Given the description of an element on the screen output the (x, y) to click on. 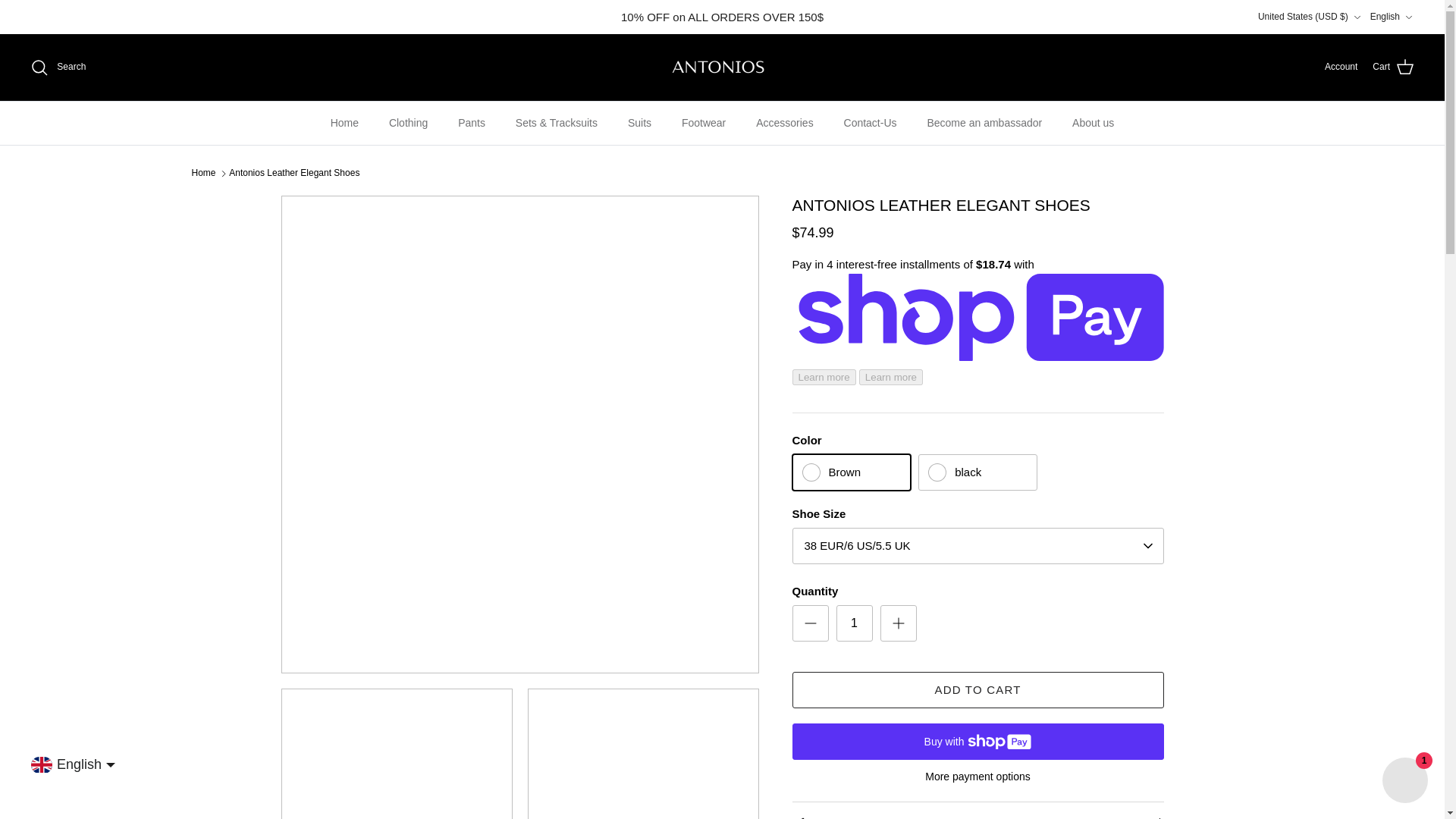
Minus (809, 623)
Plus (897, 623)
Antonios (721, 67)
Down (1408, 17)
Shopify online store chat (1404, 781)
Down (1357, 17)
1 (853, 623)
